Given the description of an element on the screen output the (x, y) to click on. 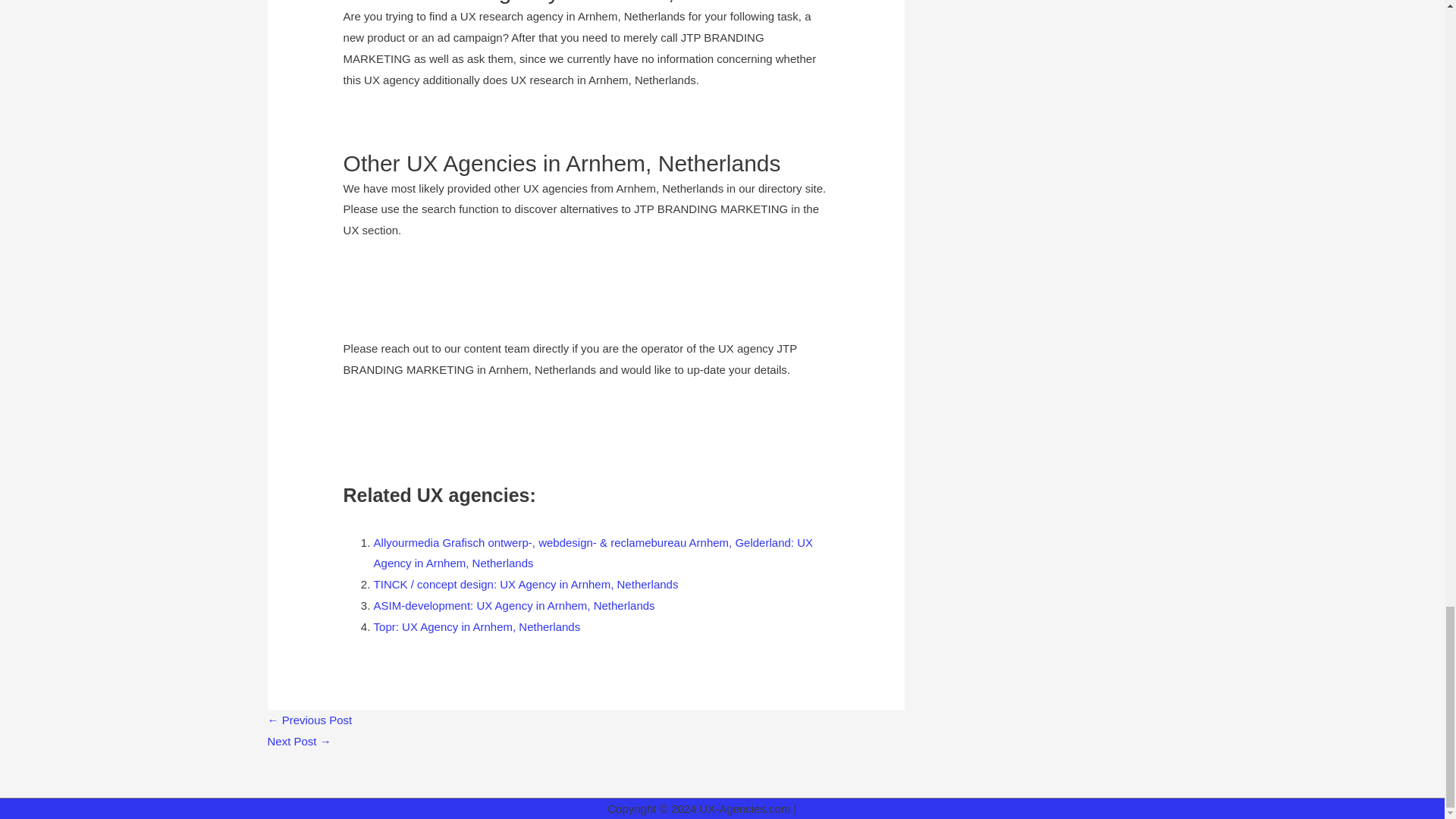
ASIM-development: UX Agency in Arnhem, Netherlands (514, 604)
Topr: UX Agency in Arnhem, Netherlands (477, 626)
ASIM-development: UX Agency in Arnhem, Netherlands (514, 604)
Topr: UX Agency in Arnhem, Netherlands (477, 626)
